Given the description of an element on the screen output the (x, y) to click on. 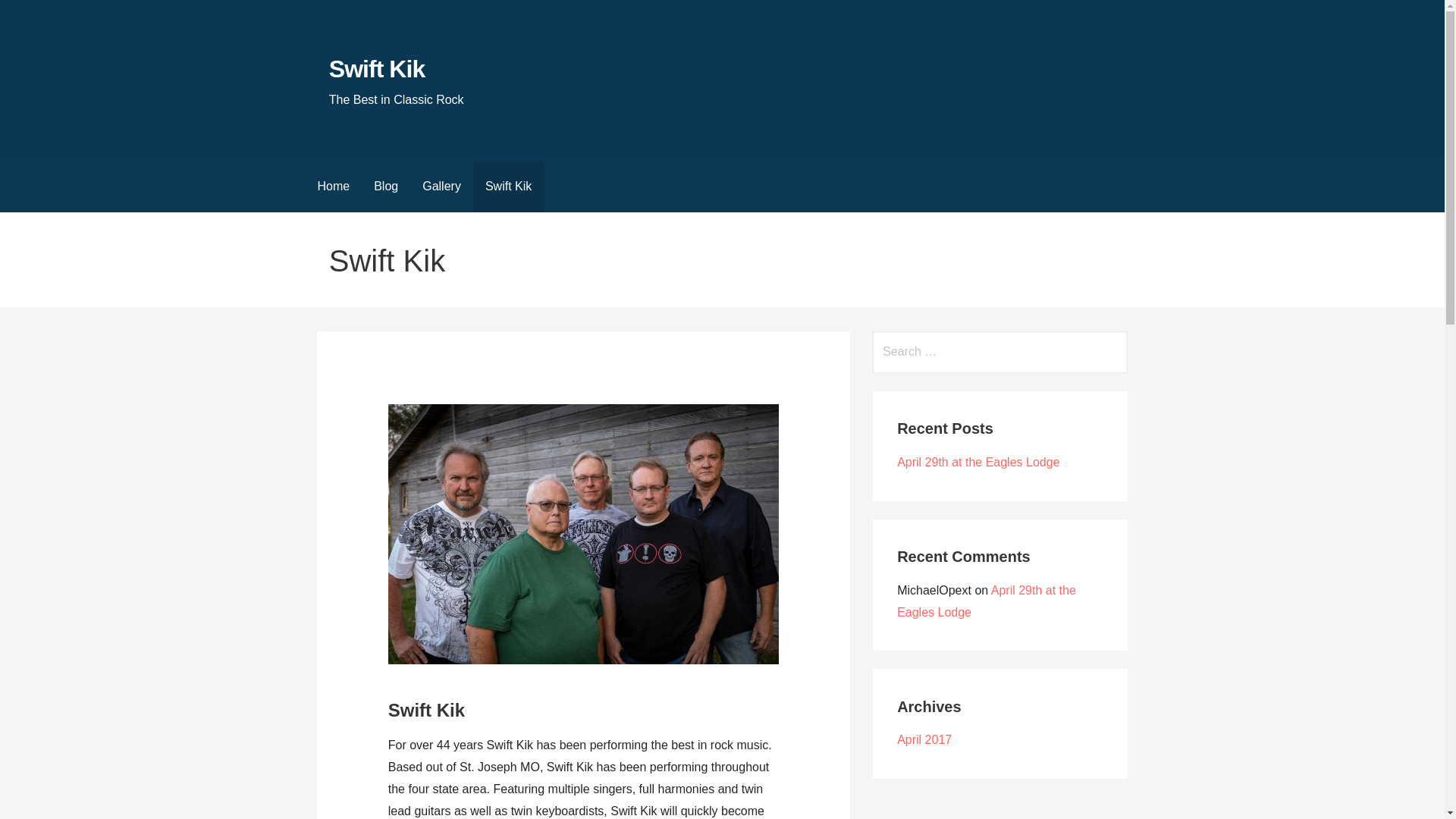
April 29th at the Eagles Lodge (985, 601)
Swift Kik (377, 68)
Gallery (441, 186)
Blog (385, 186)
Search (31, 15)
April 2017 (924, 739)
1CE42C35-2017-43C1-BF6D-5F8D8FB83596 (583, 534)
Home (332, 186)
Swift Kik (508, 186)
April 29th at the Eagles Lodge (977, 461)
